Given the description of an element on the screen output the (x, y) to click on. 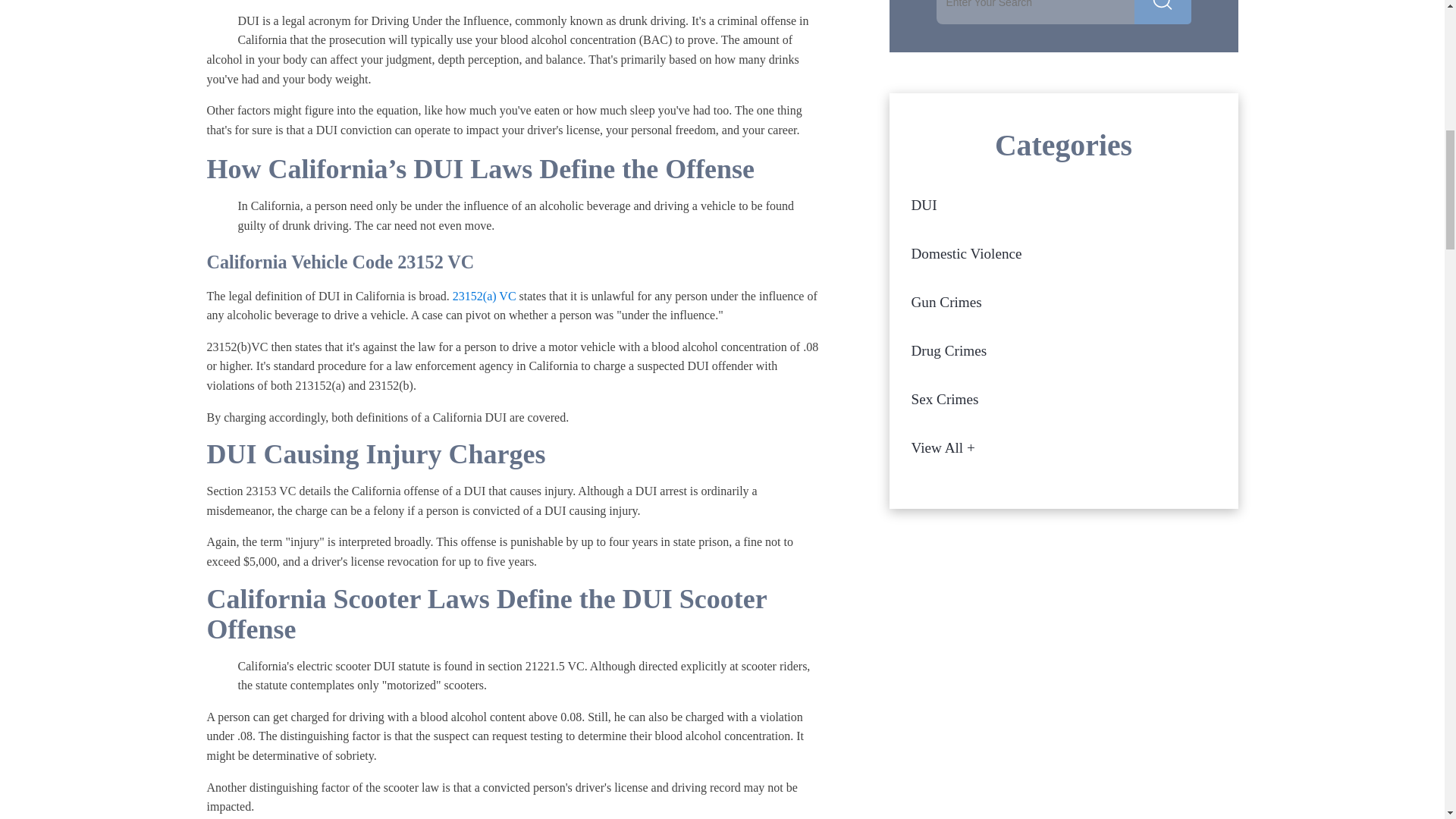
DUI (1062, 205)
Domestic Violence (1062, 254)
